Given the description of an element on the screen output the (x, y) to click on. 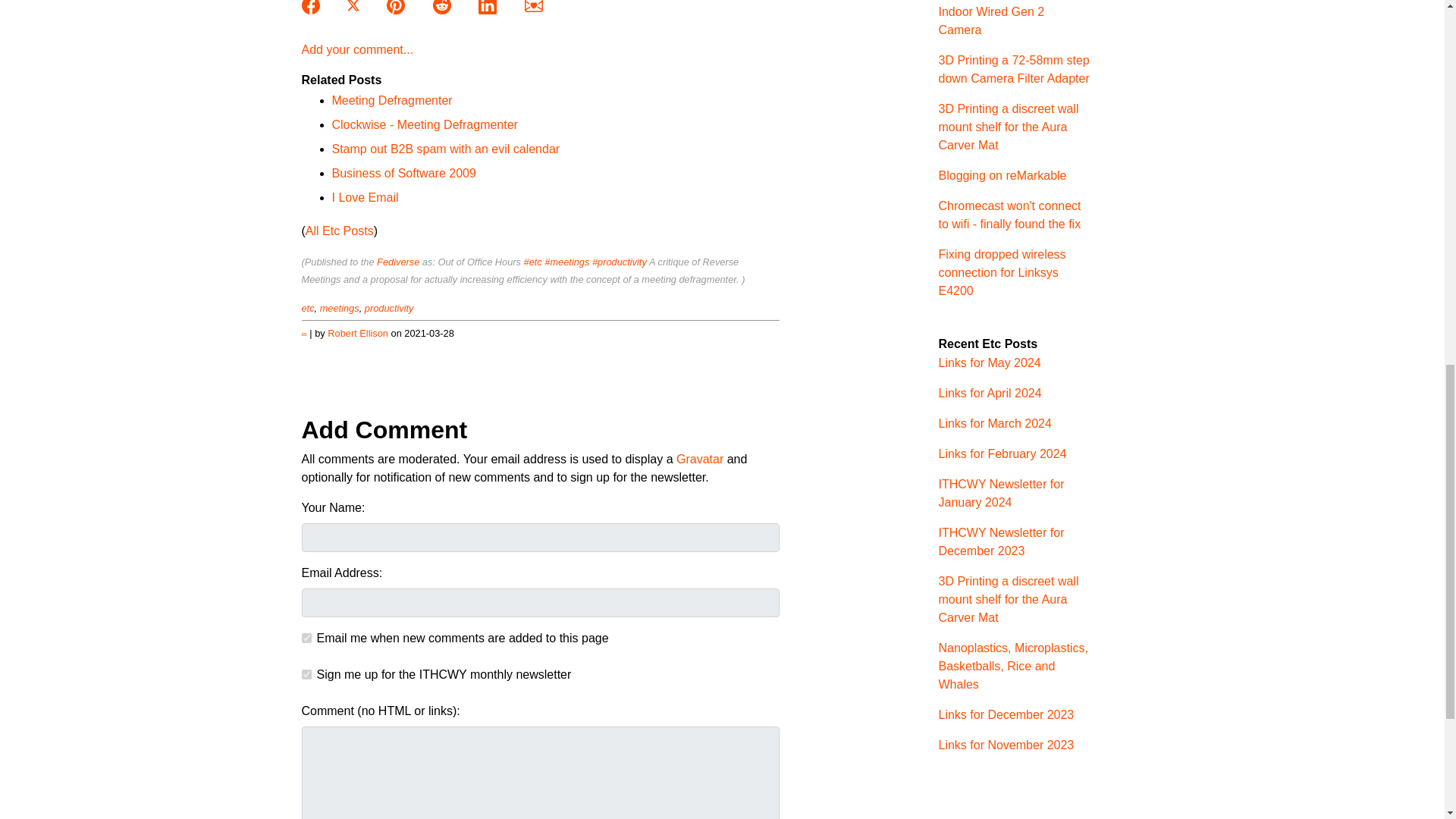
Share via Email (533, 5)
Share on Facebook (312, 5)
Share on LinkedIn (489, 5)
true (306, 637)
Share on Reddit (443, 5)
Pin It (397, 5)
Permalink (304, 334)
true (306, 674)
